Given the description of an element on the screen output the (x, y) to click on. 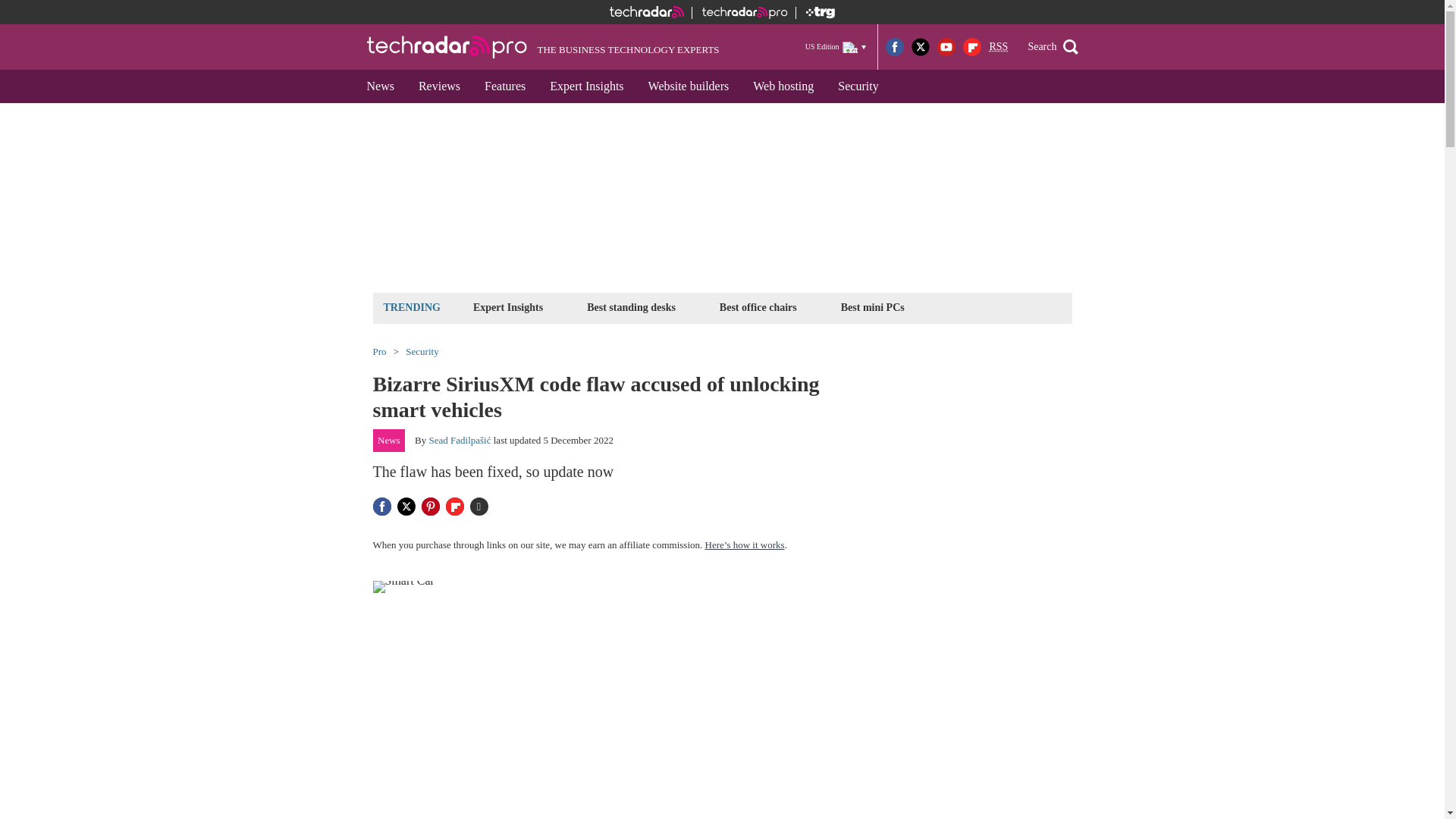
Web hosting (783, 86)
Expert Insights (507, 307)
RSS (997, 46)
THE BUSINESS TECHNOLOGY EXPERTS (542, 46)
News (380, 86)
Best office chairs (758, 307)
Really Simple Syndication (997, 46)
US Edition (836, 46)
Website builders (688, 86)
Features (504, 86)
Reviews (438, 86)
Best standing desks (630, 307)
Expert Insights (585, 86)
Security (857, 86)
